Given the description of an element on the screen output the (x, y) to click on. 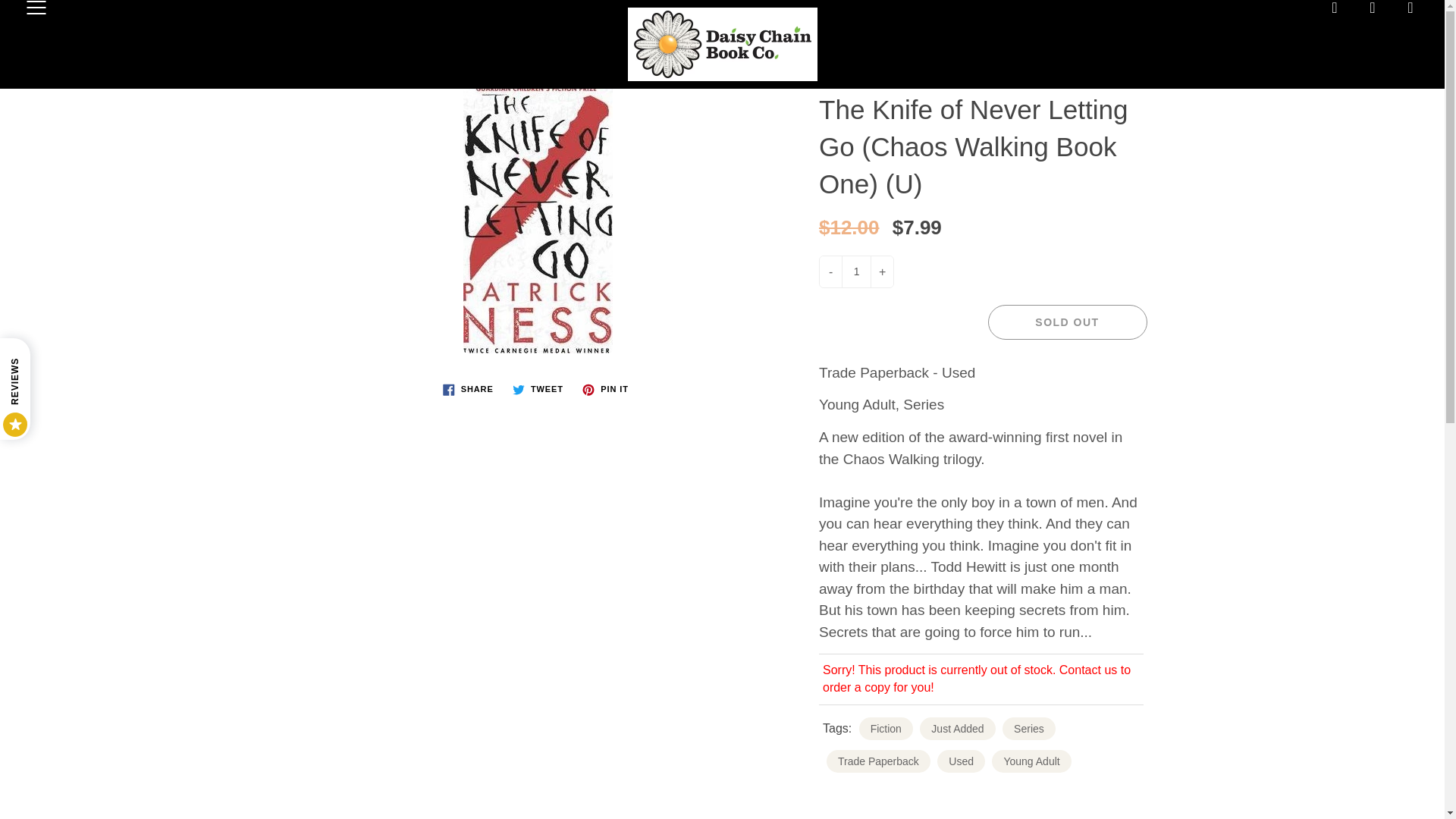
Home (568, 44)
Tweet on Twitter (537, 389)
1 (855, 271)
Share on Facebook (467, 389)
Press space bar to toggle menu (36, 9)
Pin on Pinterest (604, 389)
